Given the description of an element on the screen output the (x, y) to click on. 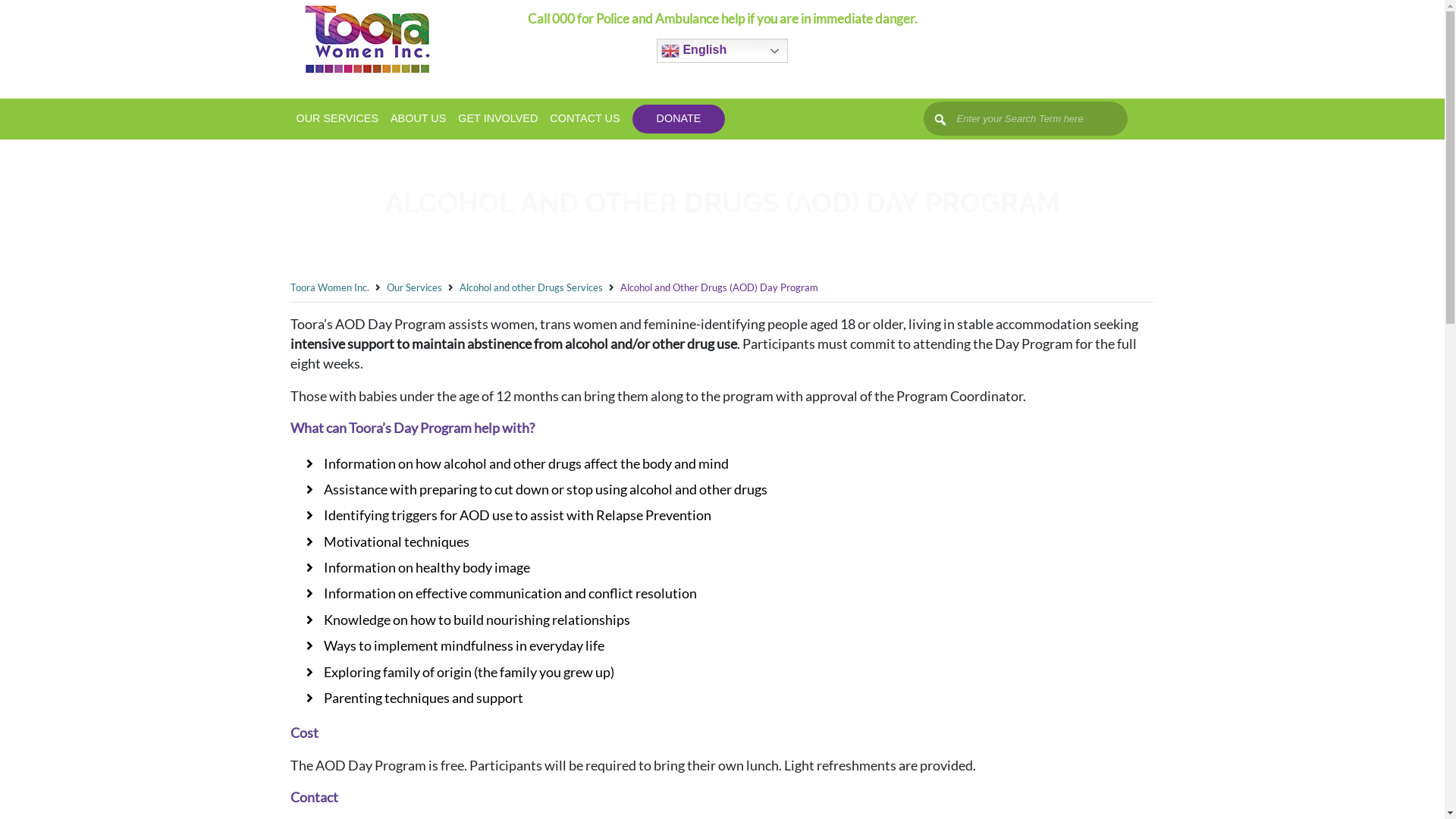
DONATE Element type: text (678, 118)
Alcohol and other Drugs Services Element type: text (530, 287)
ABOUT US Element type: text (417, 118)
Toora Women Inc. Element type: text (328, 287)
GET INVOLVED Element type: text (497, 118)
English Element type: text (721, 50)
CONTACT US Element type: text (584, 118)
Our Services Element type: text (414, 287)
SAFE EXIT
BUTTON Element type: text (1046, 29)
OUR SERVICES Element type: text (336, 118)
